Given the description of an element on the screen output the (x, y) to click on. 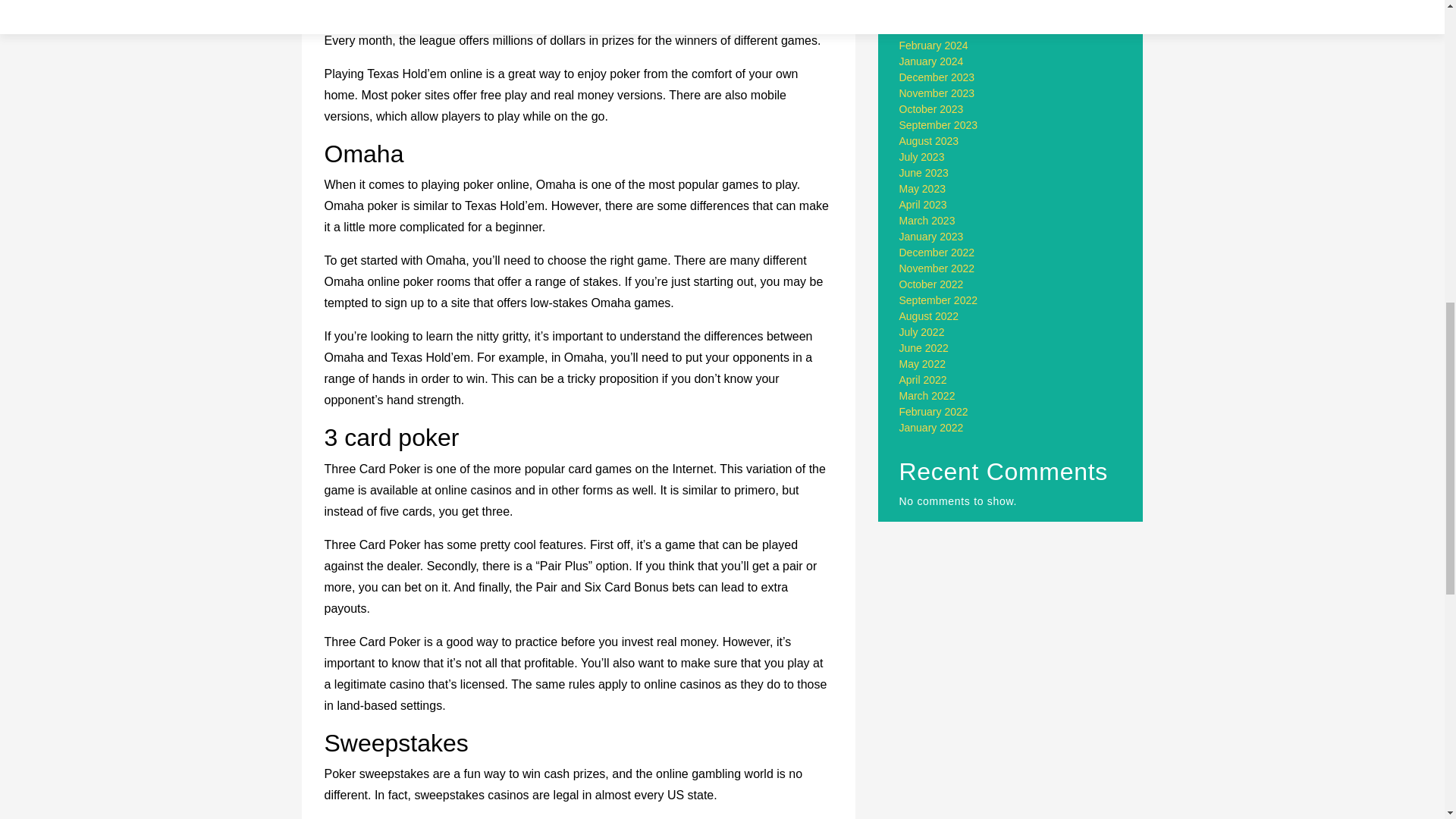
October 2022 (931, 284)
October 2023 (931, 109)
March 2024 (927, 29)
April 2024 (923, 13)
May 2024 (921, 2)
July 2022 (921, 331)
August 2023 (929, 141)
August 2022 (929, 316)
January 2024 (931, 61)
December 2023 (937, 77)
